Given the description of an element on the screen output the (x, y) to click on. 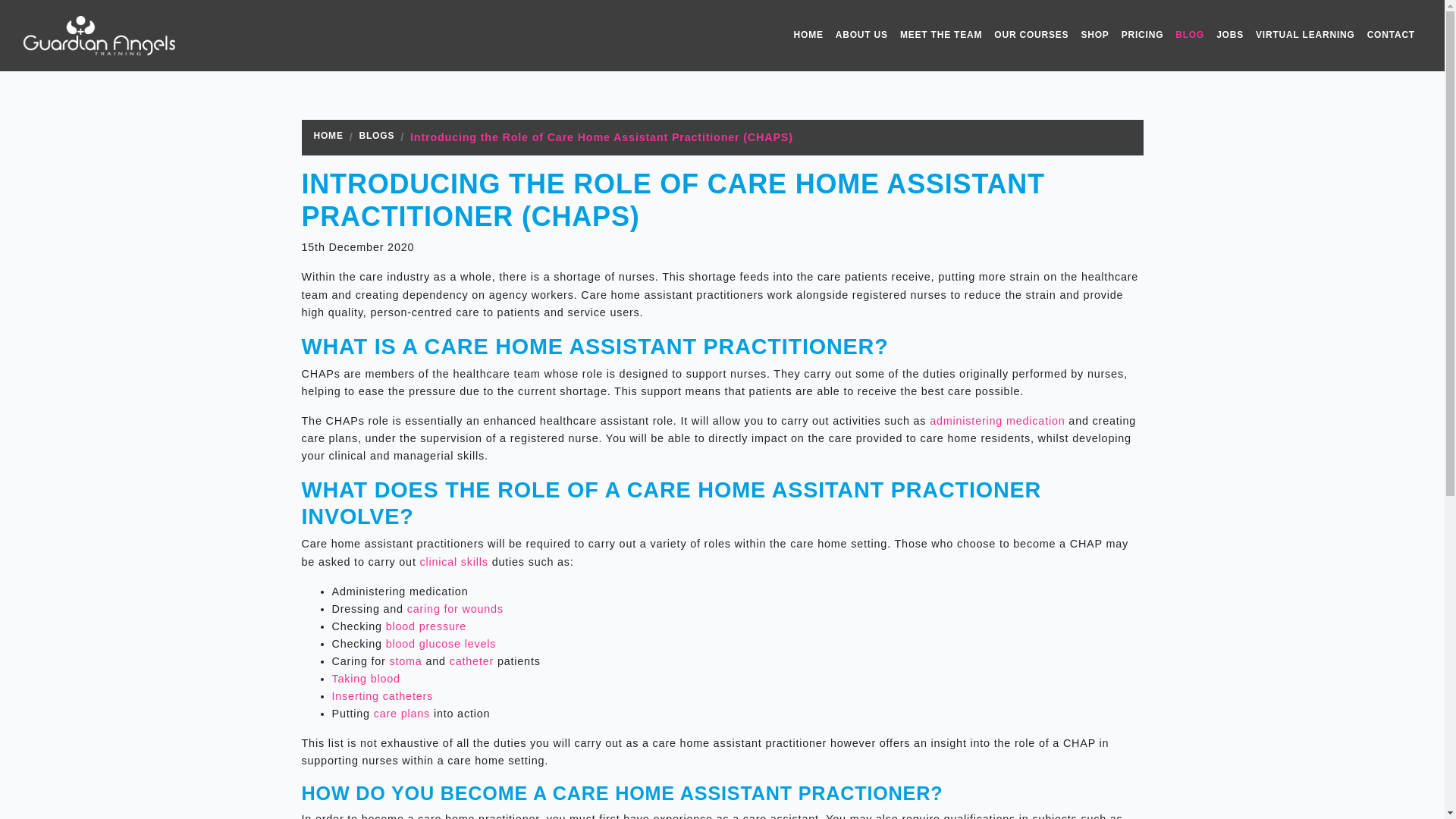
CONTACT (1391, 35)
Meet the Team (940, 35)
Home (808, 35)
Inserting catheters (382, 695)
Contact (1391, 35)
BLOG (1189, 35)
care plans (401, 713)
BLOGS (376, 137)
MEET THE TEAM (940, 35)
blood pressure (425, 625)
Virtual Learning (1305, 35)
JOBS (1229, 35)
PRICING (1142, 35)
catheter (471, 661)
Jobs (1229, 35)
